Given the description of an element on the screen output the (x, y) to click on. 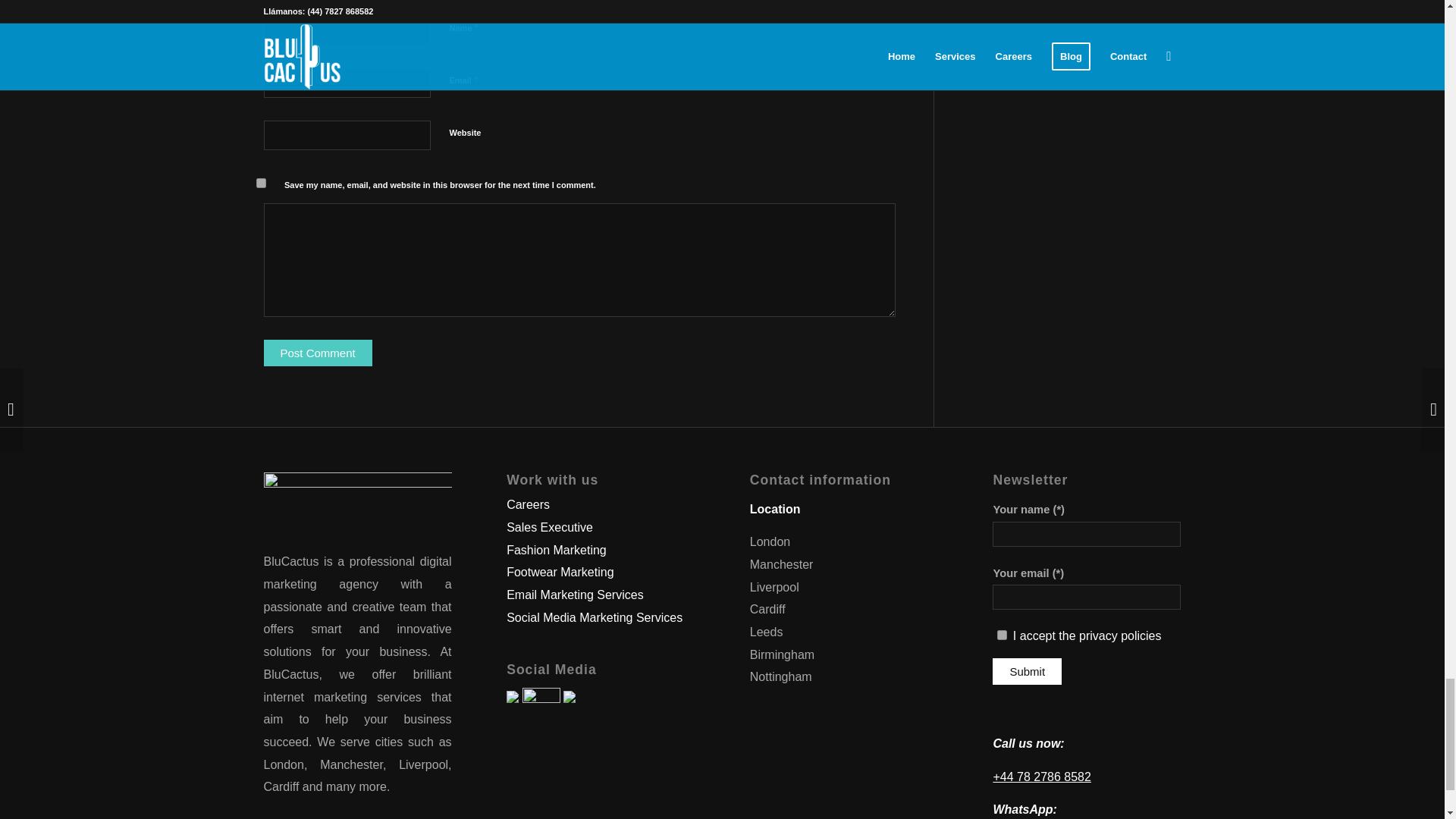
Post Comment (317, 352)
1 (1002, 634)
yes (261, 183)
Submit (1026, 671)
